Given the description of an element on the screen output the (x, y) to click on. 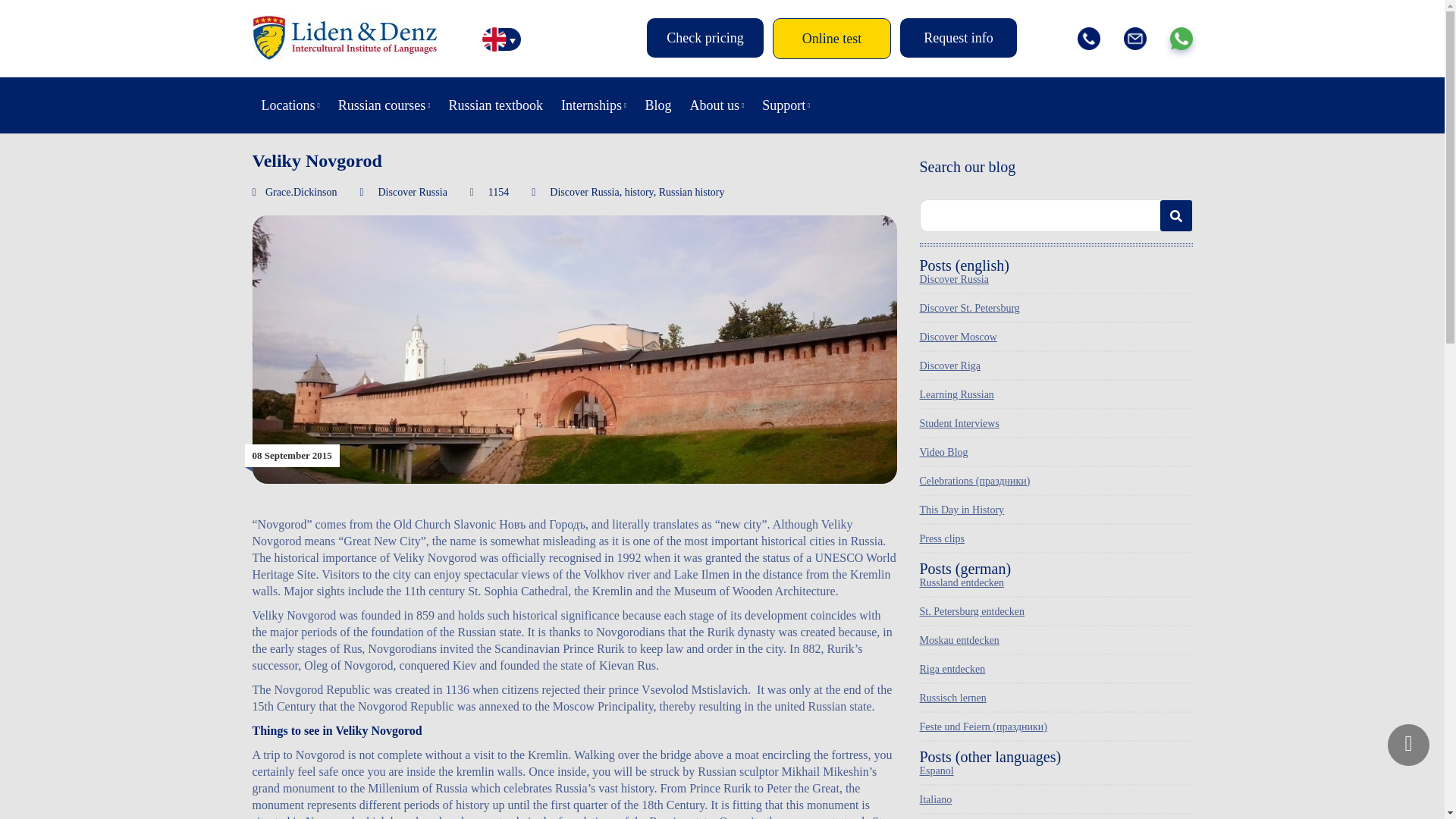
Online test (832, 38)
Russian courses (384, 104)
Request info (957, 37)
Search (1176, 215)
Check pricing (704, 37)
Locations (290, 104)
